Given the description of an element on the screen output the (x, y) to click on. 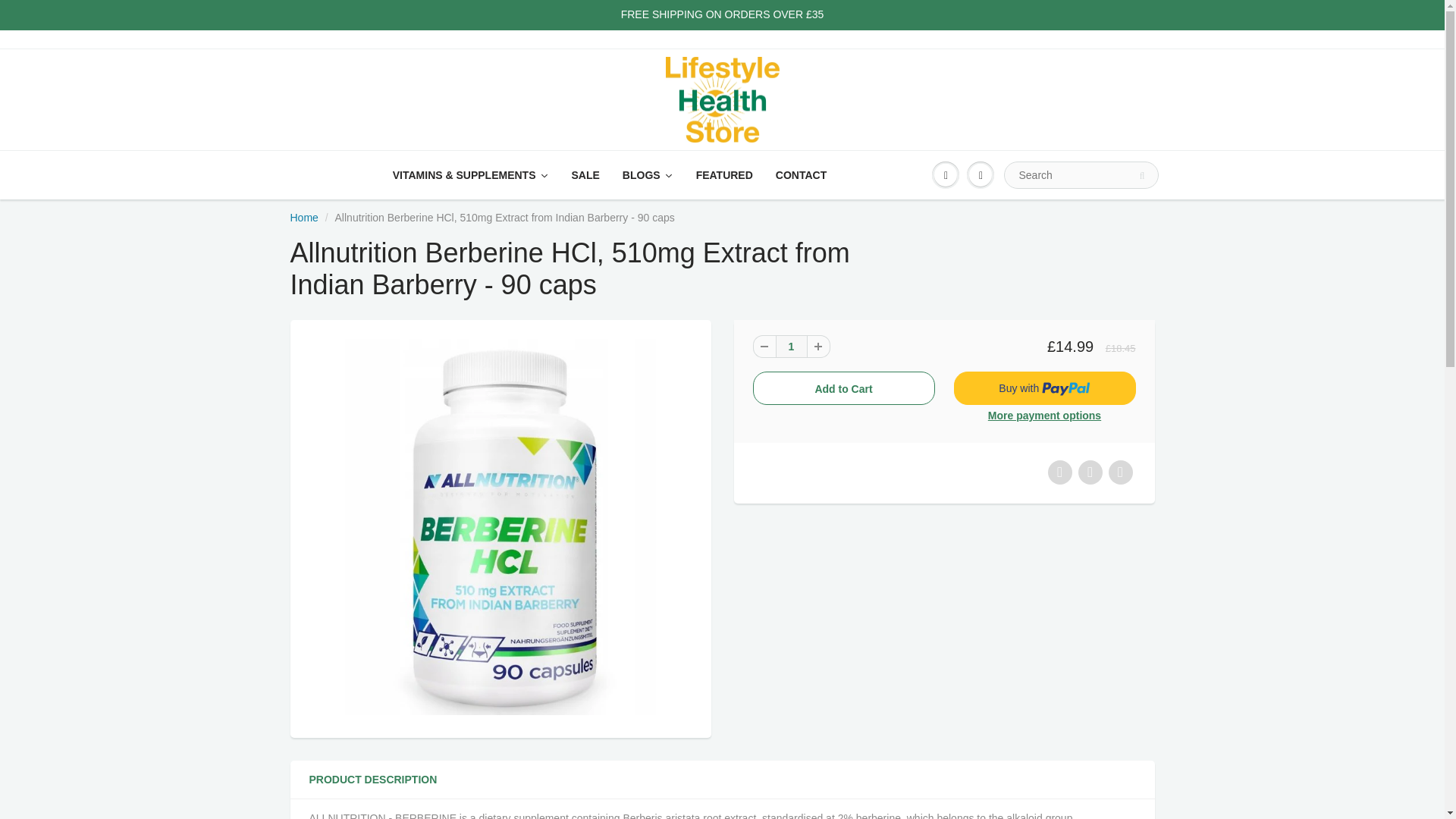
Featured (724, 175)
Add to Cart (843, 387)
More payment options (1044, 416)
CONTACT (801, 175)
Add to Cart (843, 387)
Contact  (801, 175)
1 (790, 345)
Home (303, 217)
FEATURED (724, 175)
Home (303, 217)
